Given the description of an element on the screen output the (x, y) to click on. 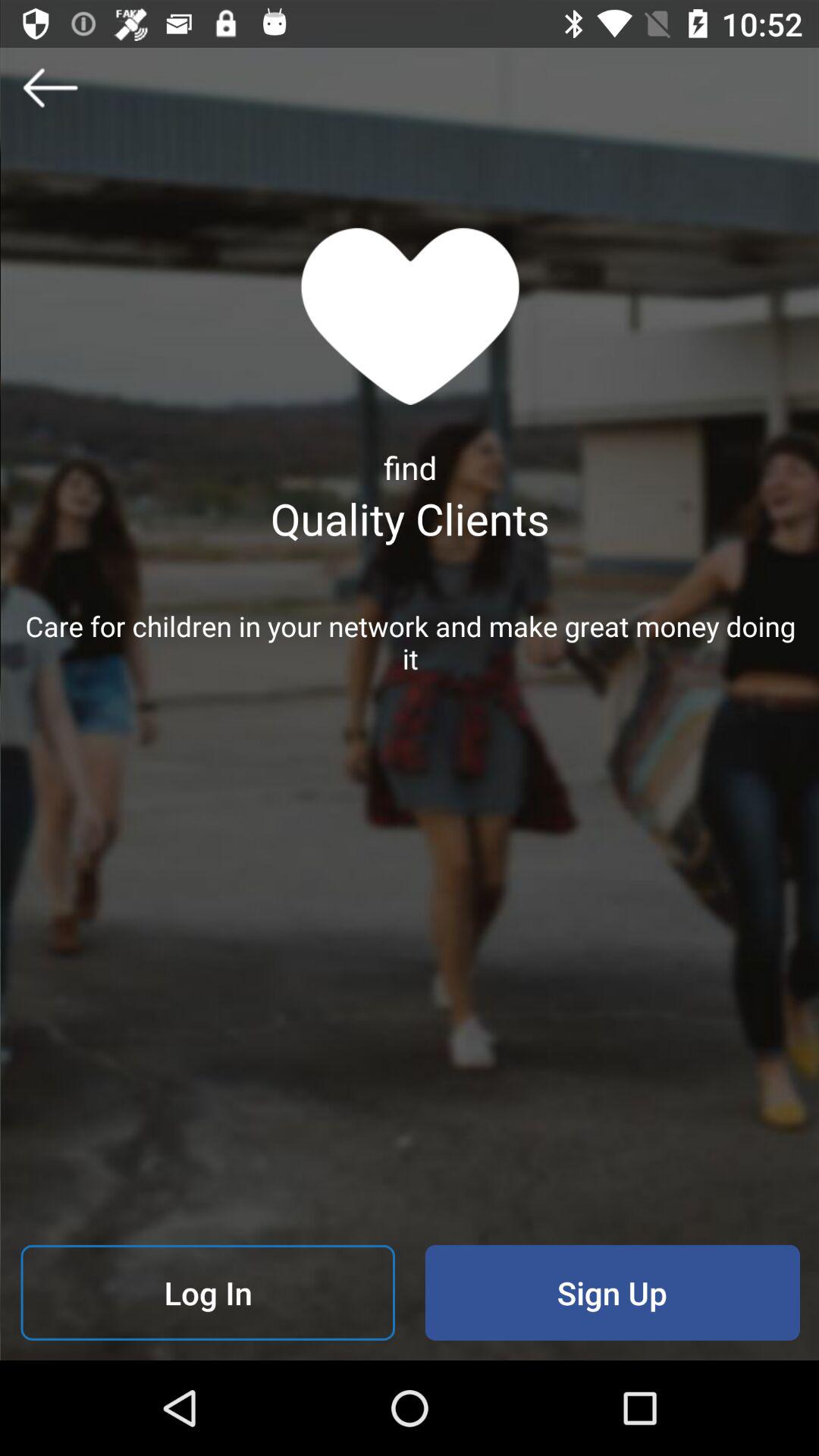
go to advertisement (49, 87)
